Given the description of an element on the screen output the (x, y) to click on. 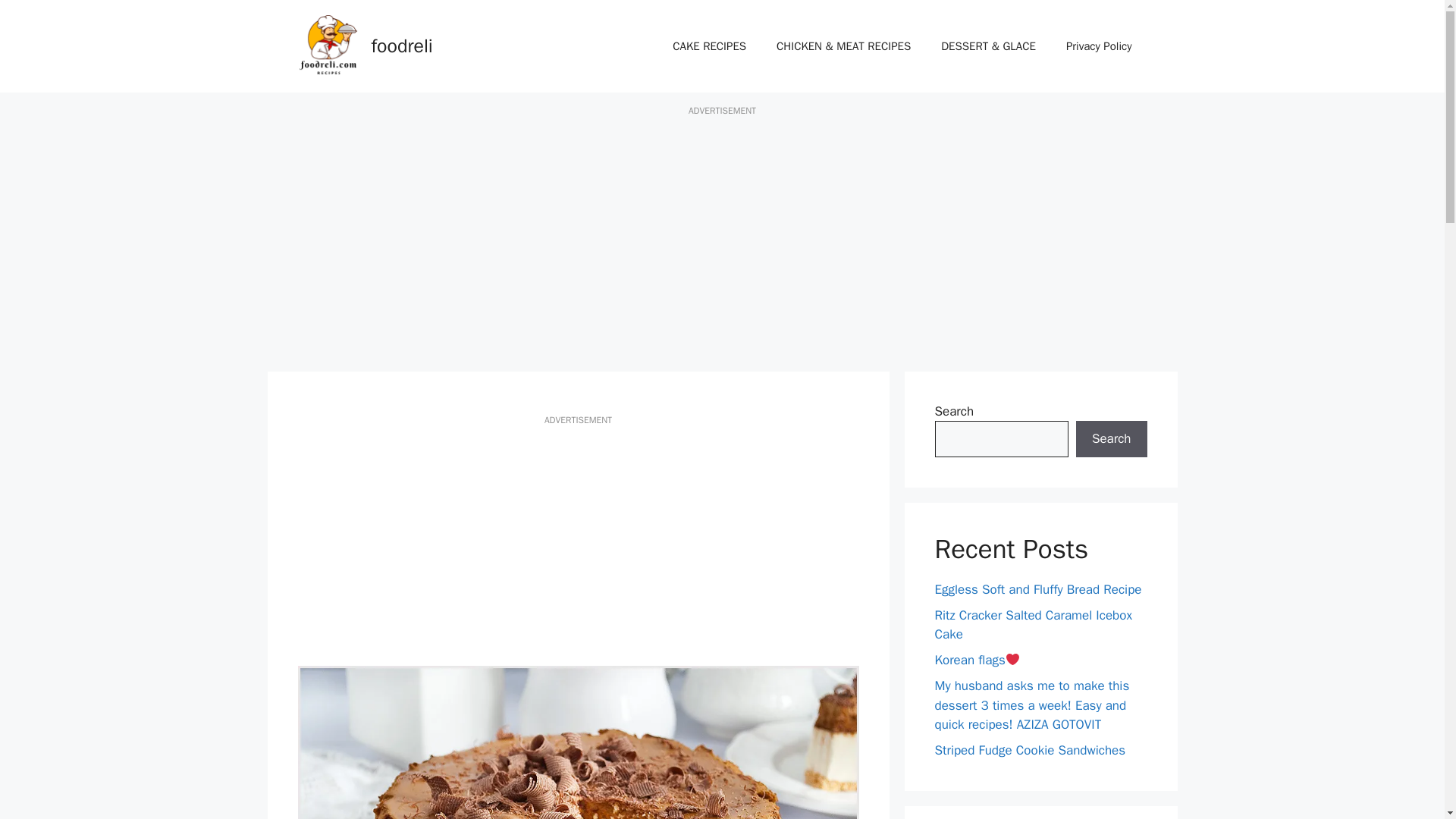
Advertisement (578, 548)
Striped Fudge Cookie Sandwiches (1029, 750)
Korean flags (977, 659)
CAKE RECIPES (709, 45)
Ritz Cracker Salted Caramel Icebox Cake (1032, 624)
foodreli (401, 45)
Eggless Soft and Fluffy Bread Recipe (1037, 589)
Search (1111, 438)
Privacy Policy (1099, 45)
